Given the description of an element on the screen output the (x, y) to click on. 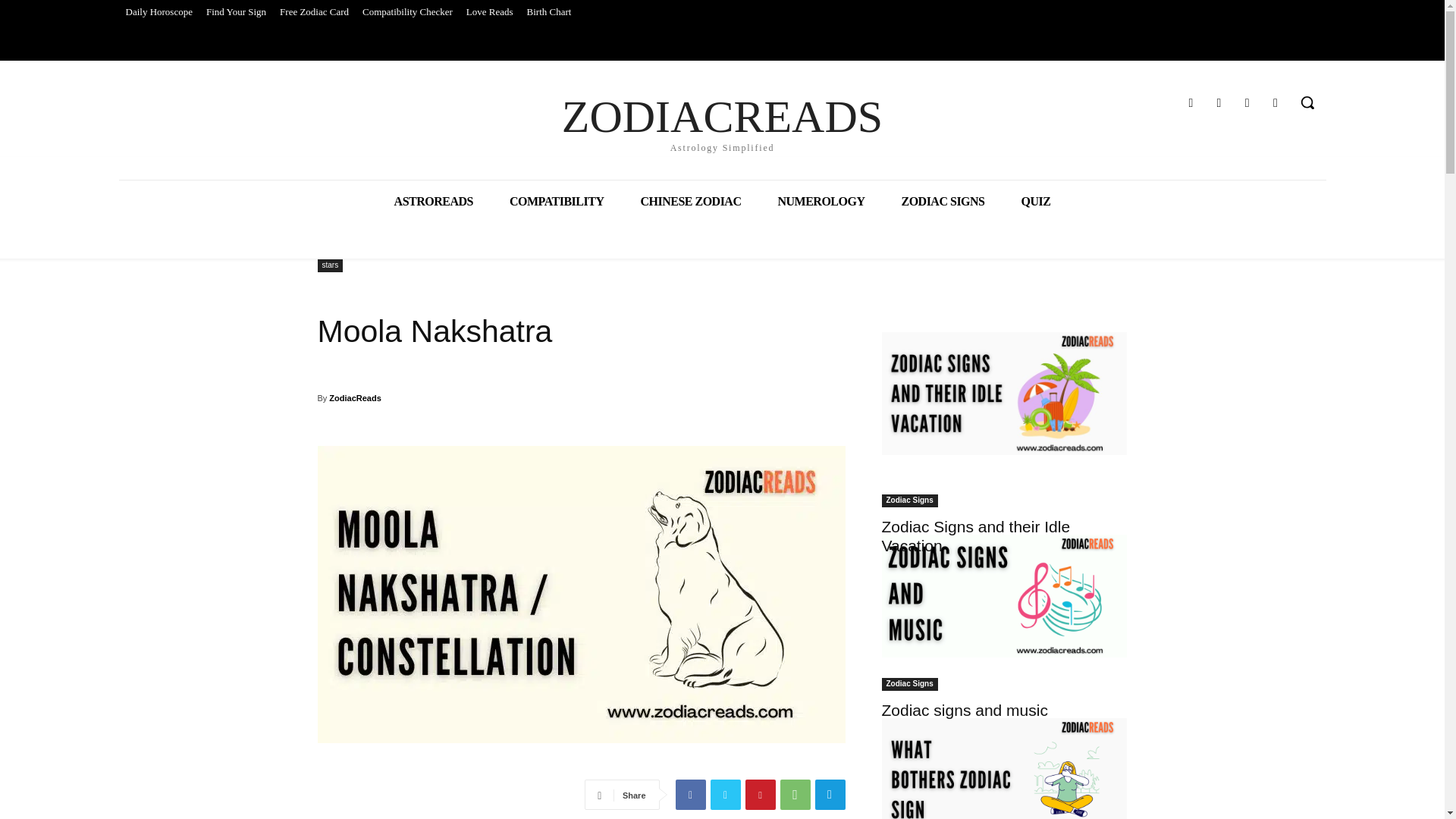
ZodiacReads (354, 397)
Love Reads (489, 12)
NUMEROLOGY (721, 121)
Pinterest (820, 200)
Facebook (759, 794)
Facebook (1190, 102)
Birth Chart (689, 794)
Instagram (548, 12)
moola Nakshatra : constellation (1218, 102)
CHINESE ZODIAC (407, 12)
Youtube (689, 200)
COMPATIBILITY (1275, 102)
Daily Horoscope (556, 200)
